Given the description of an element on the screen output the (x, y) to click on. 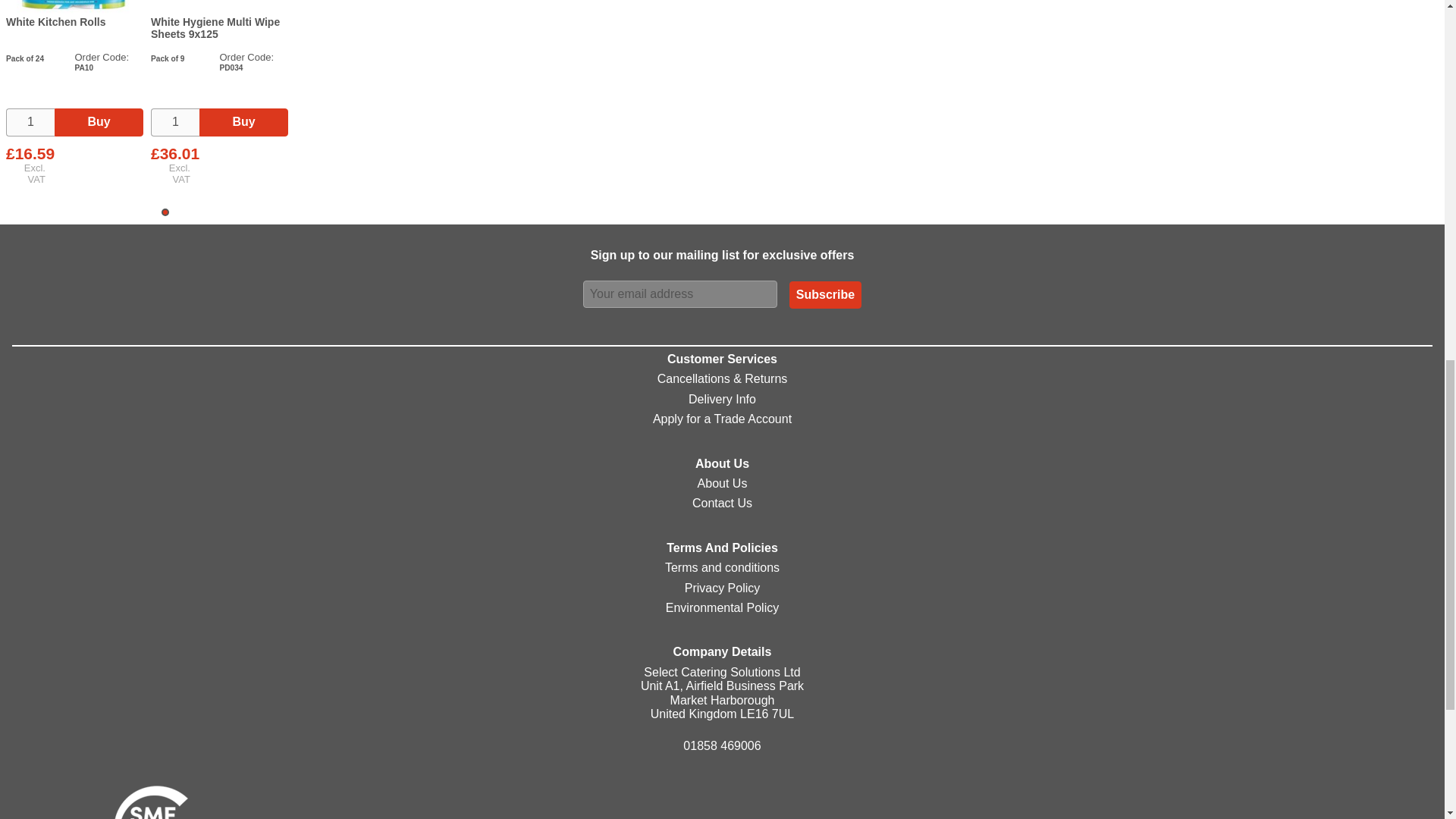
Subscribe (825, 294)
Buy (243, 121)
Buy (98, 121)
Your email address (680, 293)
1 (175, 121)
1 (30, 121)
